Given the description of an element on the screen output the (x, y) to click on. 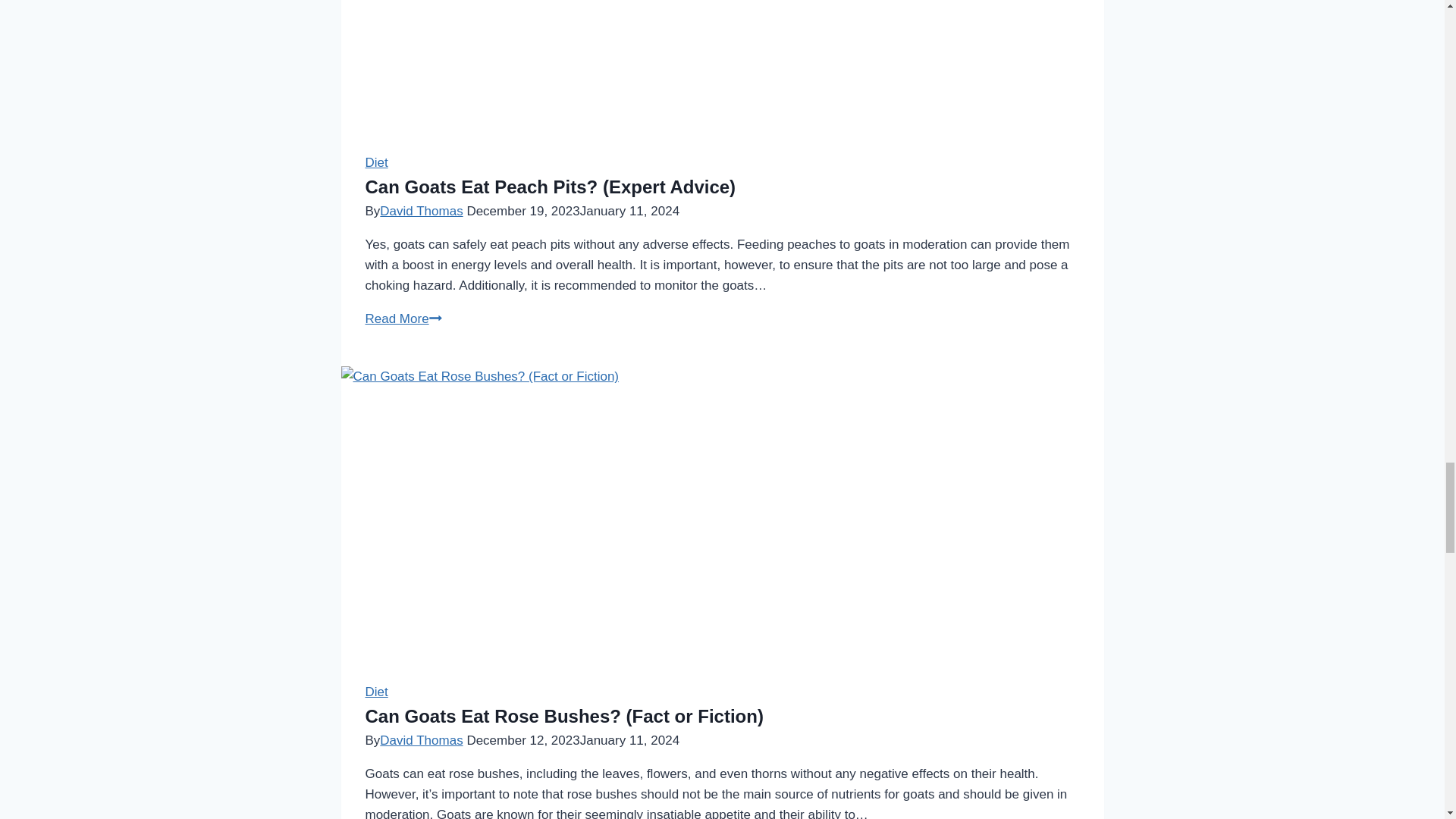
Diet (376, 691)
Diet (376, 162)
David Thomas (421, 210)
David Thomas (421, 740)
